Given the description of an element on the screen output the (x, y) to click on. 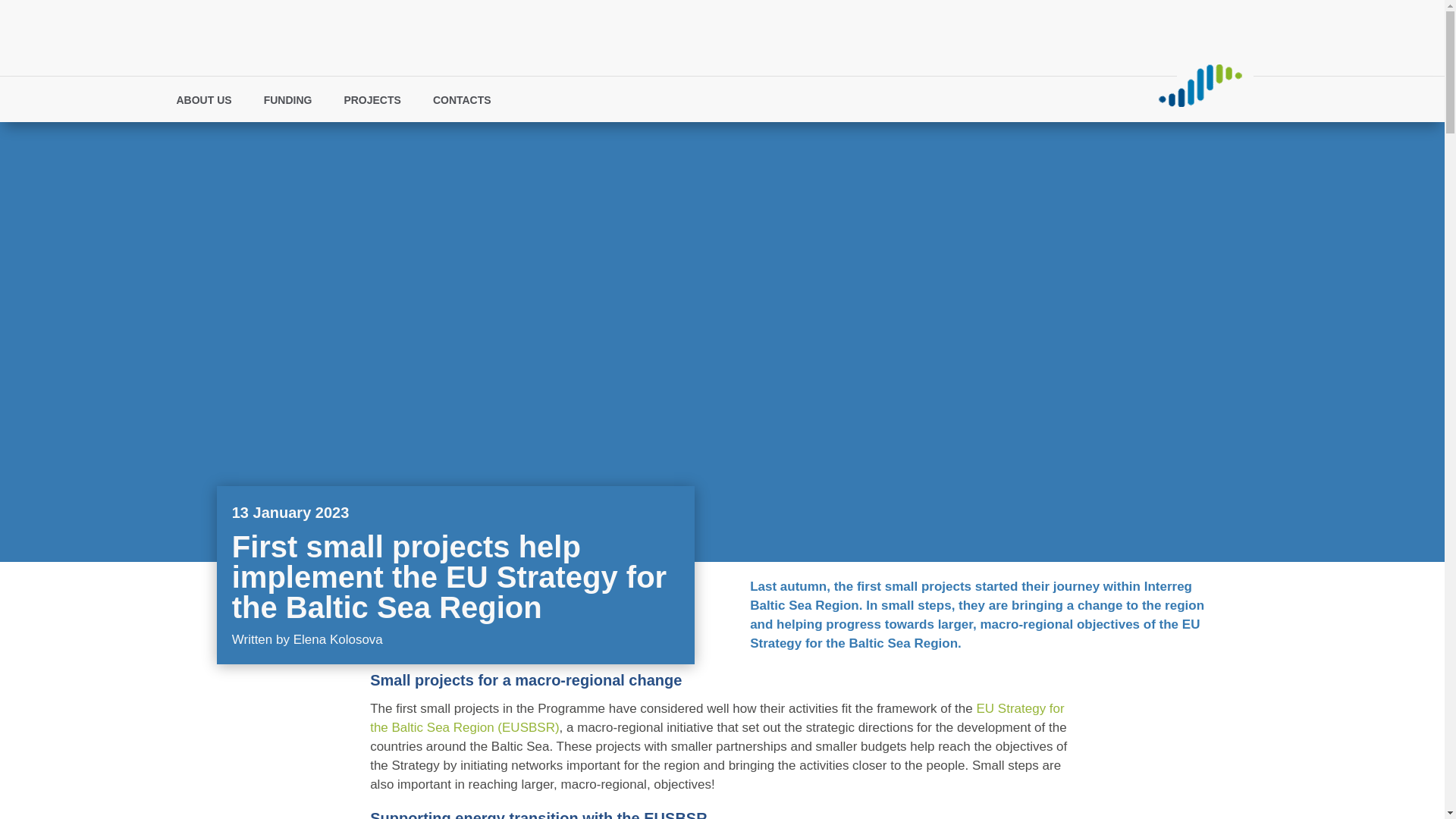
ABOUT US (211, 103)
Find partners (864, 98)
PROJECTS (378, 103)
CONTACTS (469, 103)
VideoBolt-klein (1199, 85)
Log in (930, 98)
FUNDING (295, 103)
